Given the description of an element on the screen output the (x, y) to click on. 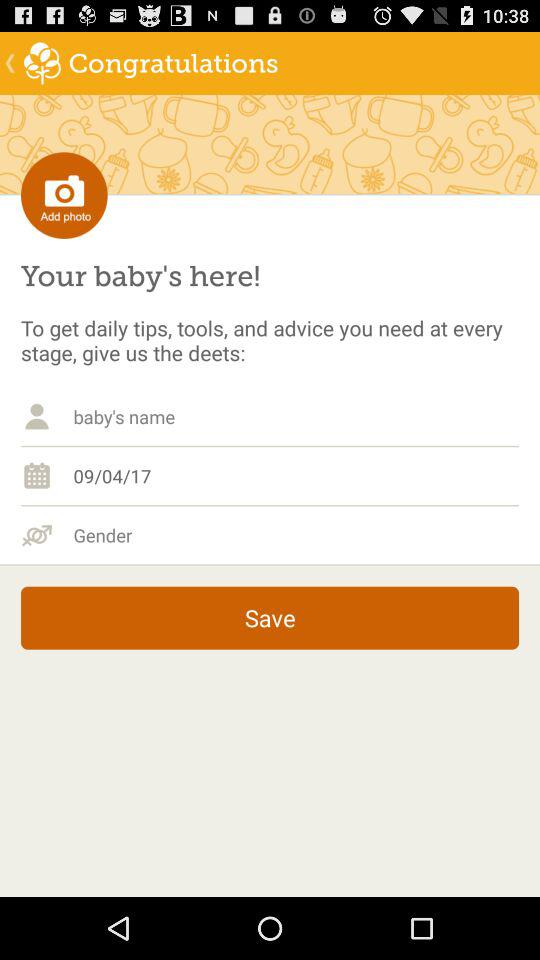
scroll to the save icon (270, 617)
